Given the description of an element on the screen output the (x, y) to click on. 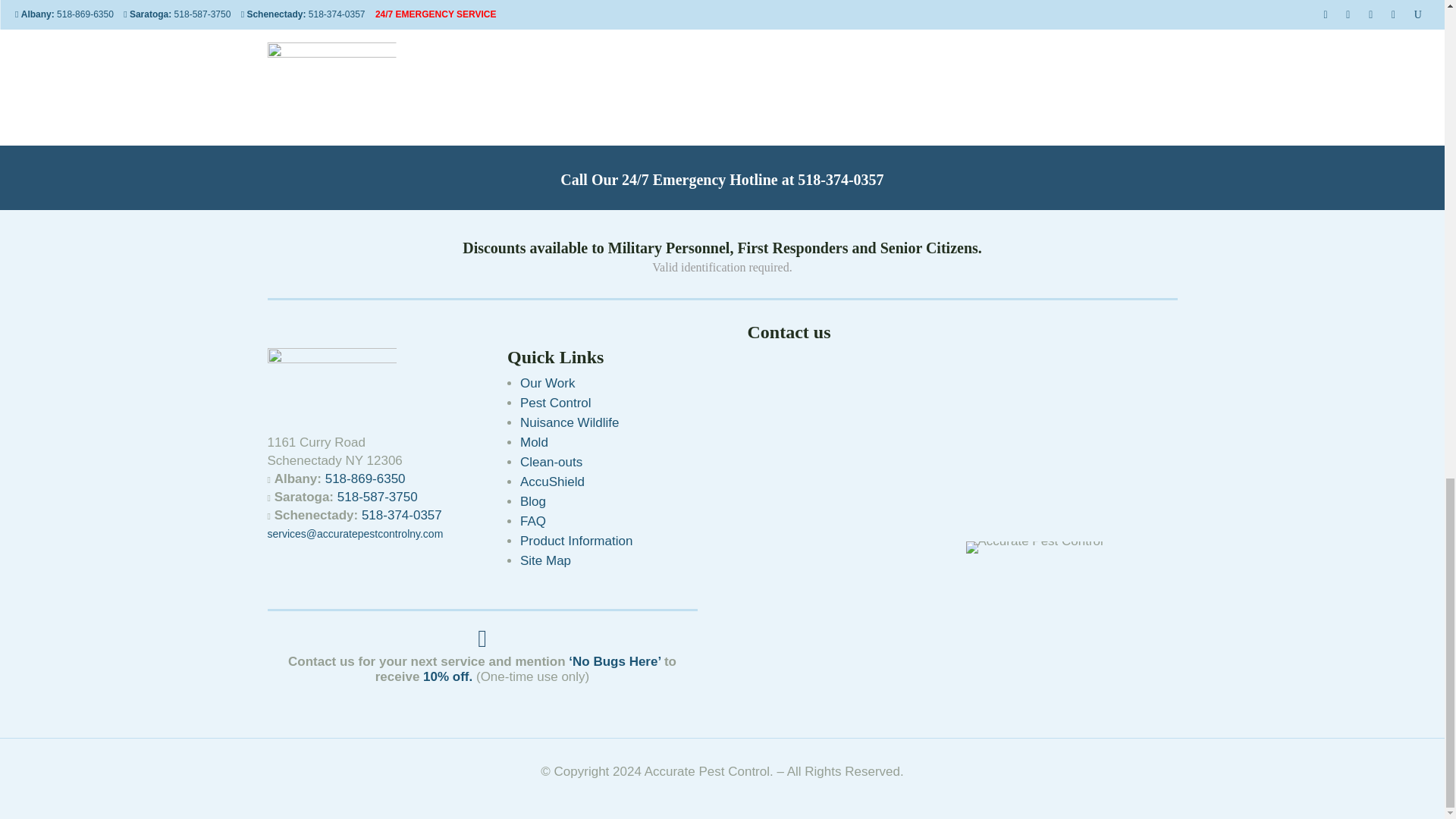
518-869-6350 (365, 478)
Pest Control (555, 402)
518-587-3750 (377, 496)
518-374-0357 (401, 514)
Our Work (547, 382)
52171b8 (331, 378)
Accurate Pest Control (1034, 547)
Nuisance Wildlife (568, 422)
518-374-0357 (840, 179)
